Given the description of an element on the screen output the (x, y) to click on. 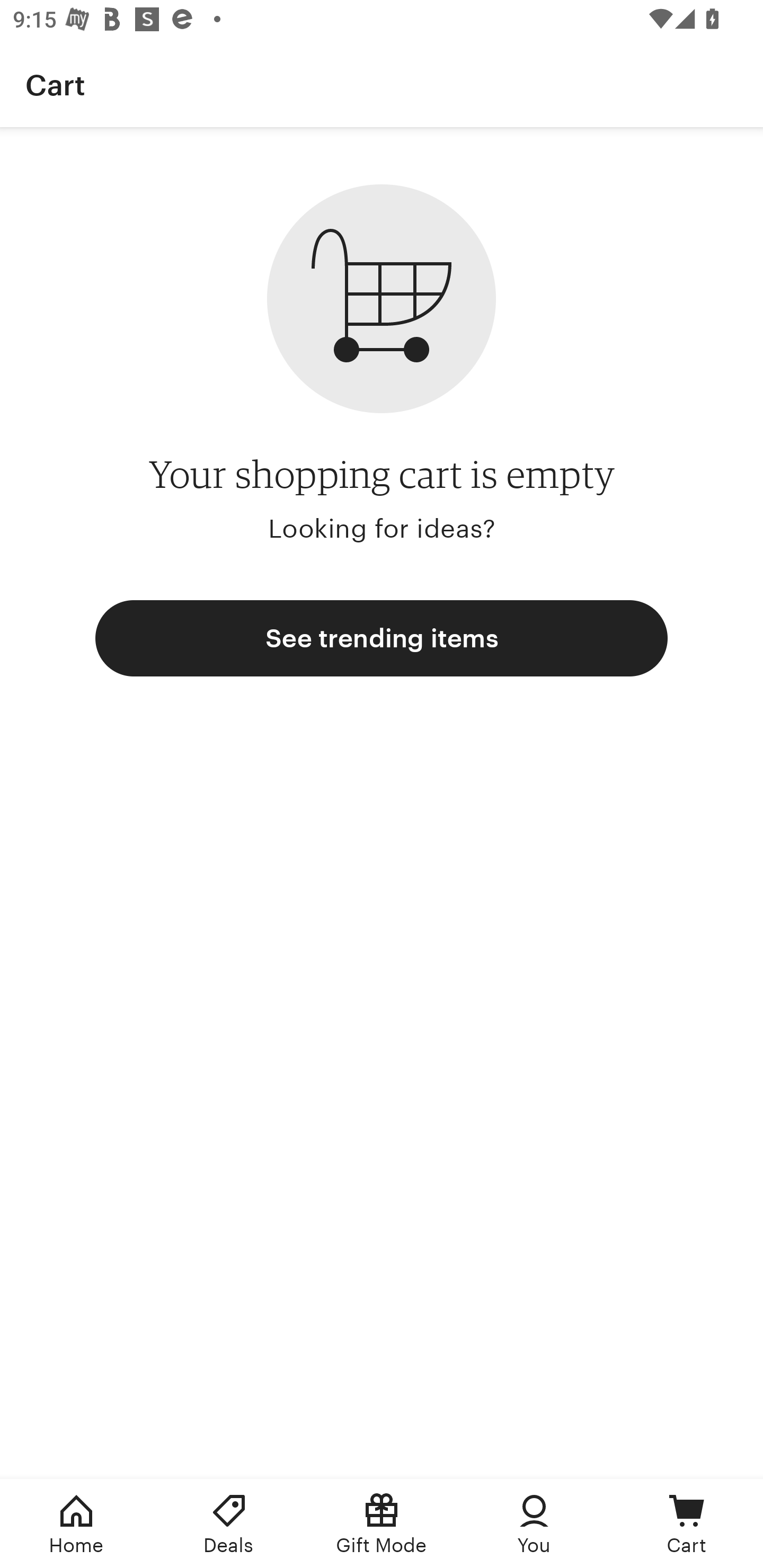
See trending items (381, 637)
Home (76, 1523)
Deals (228, 1523)
Gift Mode (381, 1523)
You (533, 1523)
